Given the description of an element on the screen output the (x, y) to click on. 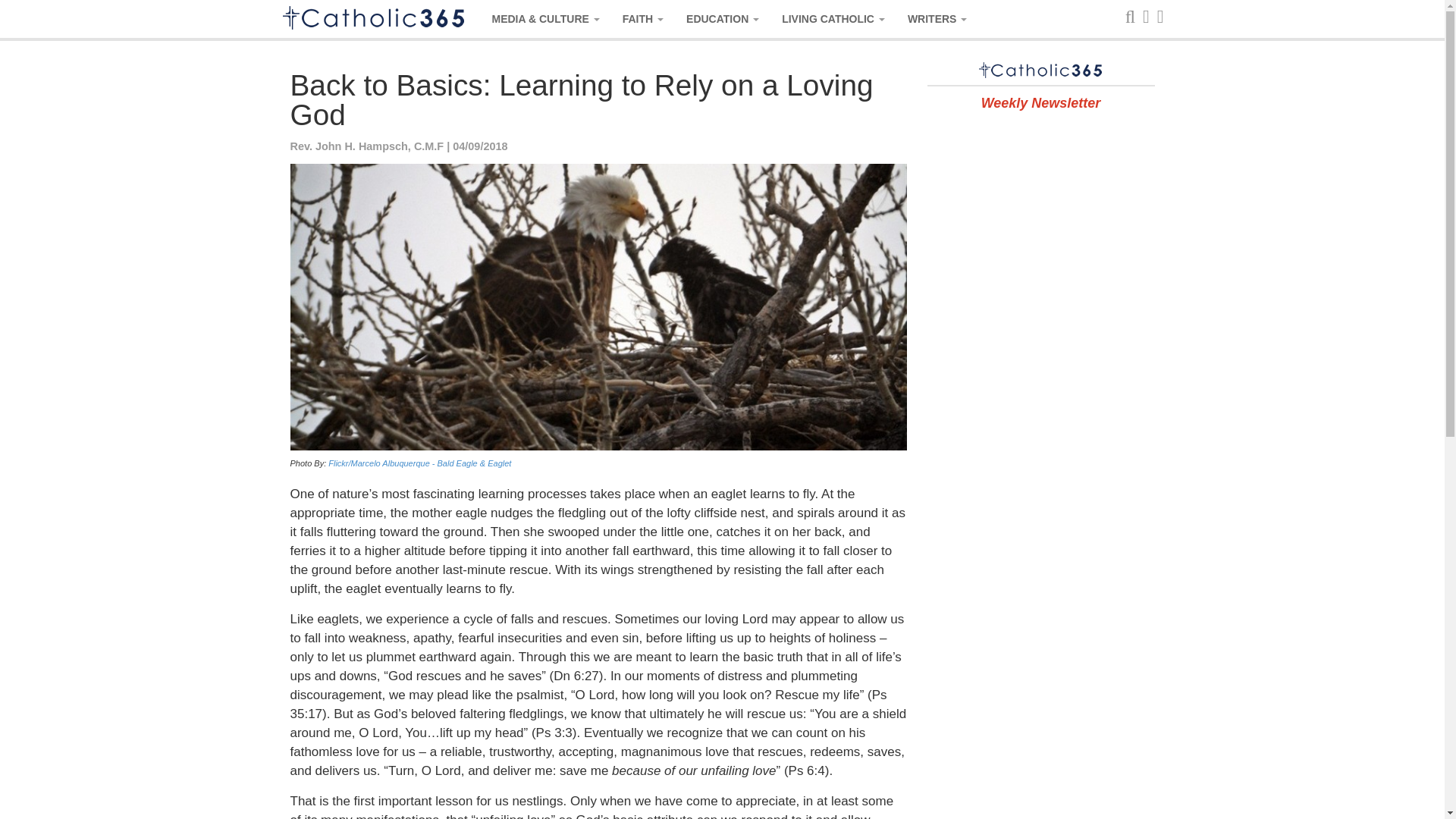
WRITERS (937, 18)
FAITH (643, 18)
EDUCATION (722, 18)
LIVING CATHOLIC (833, 18)
